Given the description of an element on the screen output the (x, y) to click on. 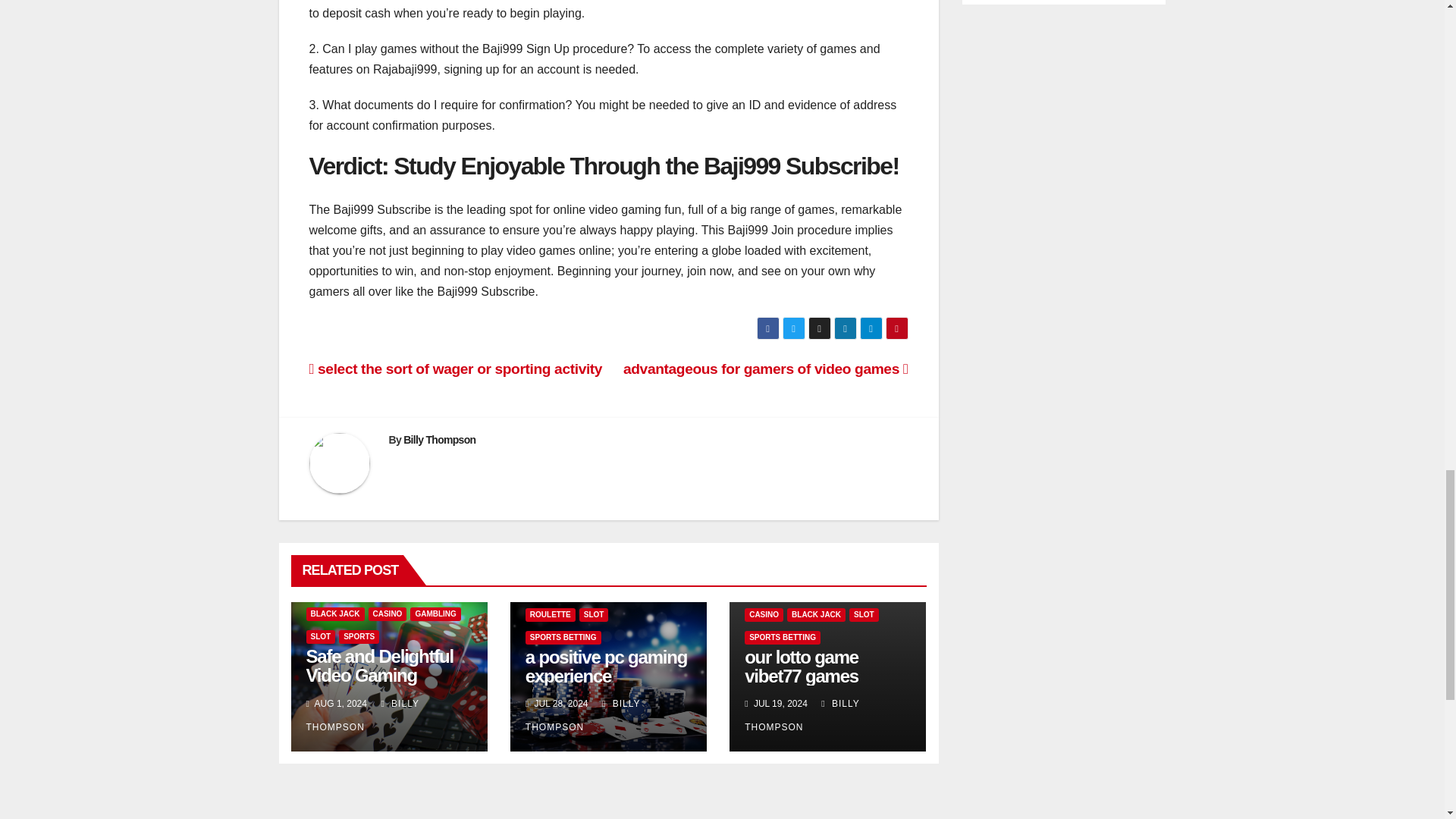
GAMBLING (435, 613)
Billy Thompson (439, 439)
Permalink to: a positive pc gaming experience (606, 666)
Permalink to: our lotto game vibet77 games (801, 666)
CASINO (387, 613)
BLACK JACK (335, 613)
SPORTS (358, 636)
select the sort of wager or sporting activity (455, 368)
advantageous for gamers of video games (765, 368)
SLOT (320, 636)
Safe and Delightful Video Gaming Practices in Nepal (379, 675)
